Given the description of an element on the screen output the (x, y) to click on. 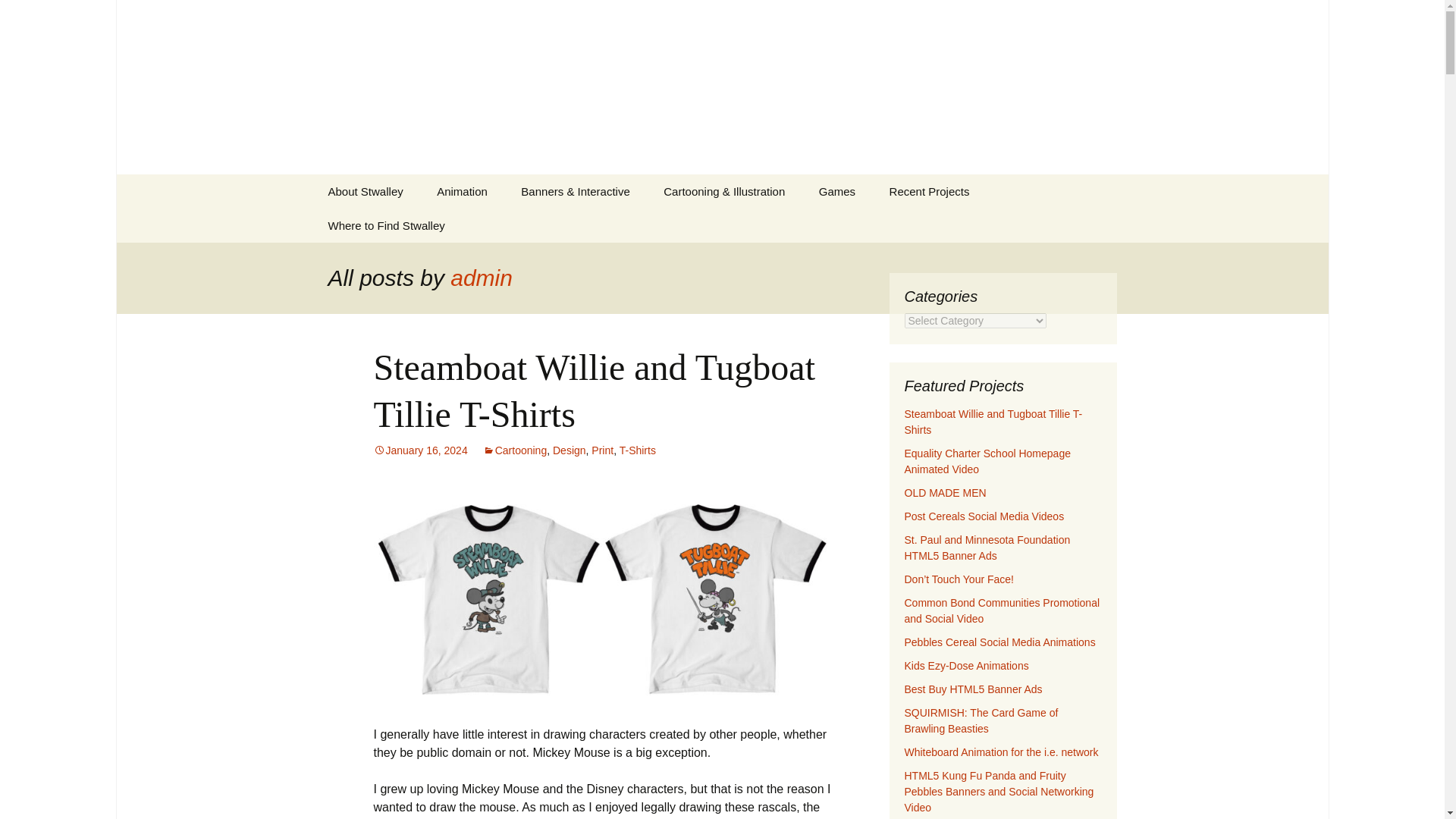
Design (569, 450)
admin (480, 277)
Animation (462, 191)
January 16, 2024 (18, 15)
Print (419, 450)
About Stwalley (601, 450)
Cartooning (365, 191)
